Given the description of an element on the screen output the (x, y) to click on. 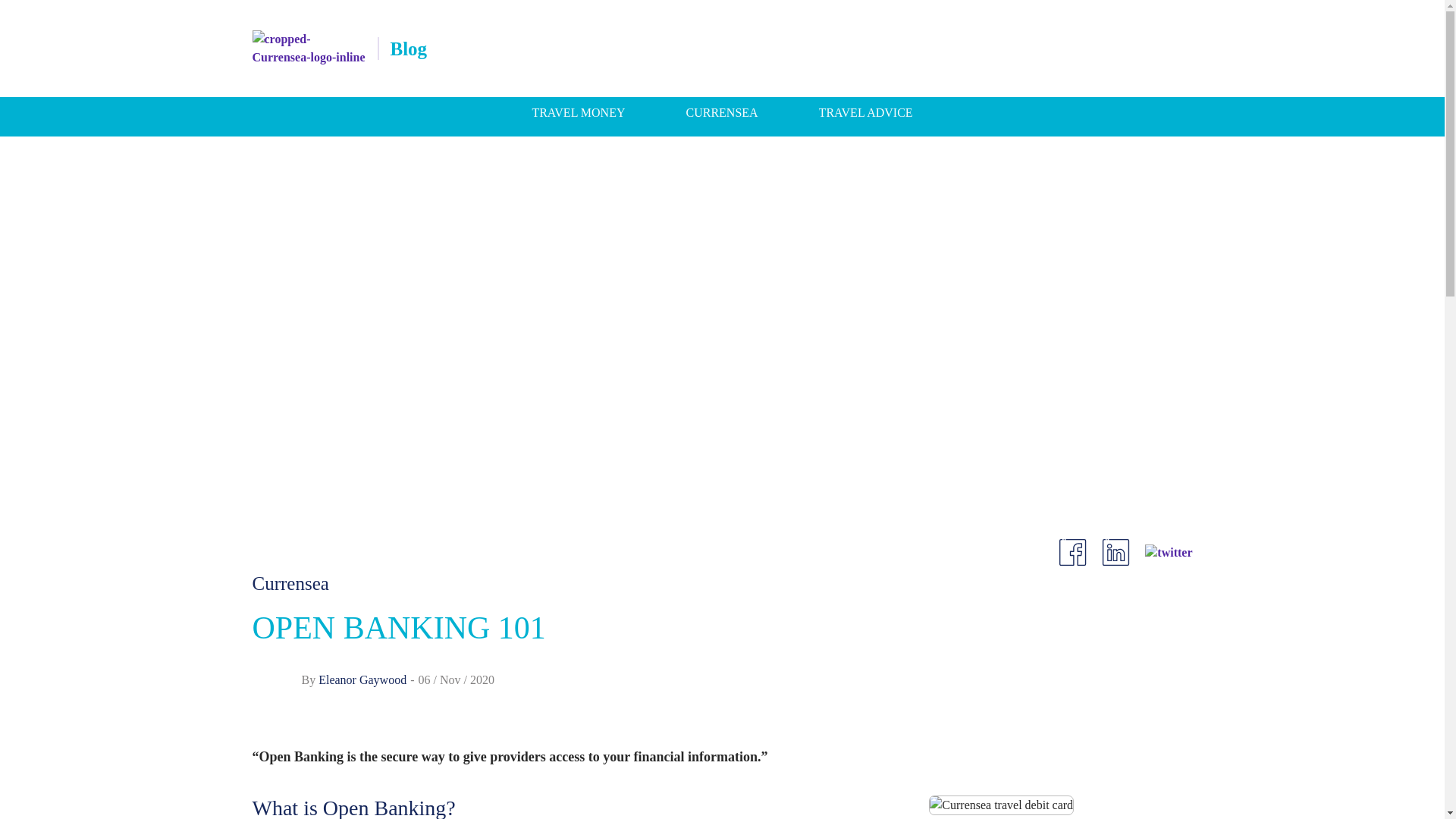
Currensea (290, 583)
CURRENSEA (721, 112)
TRAVEL ADVICE (865, 112)
TRAVEL MONEY (577, 112)
Blog (408, 48)
Eleanor Gaywood (362, 680)
